Given the description of an element on the screen output the (x, y) to click on. 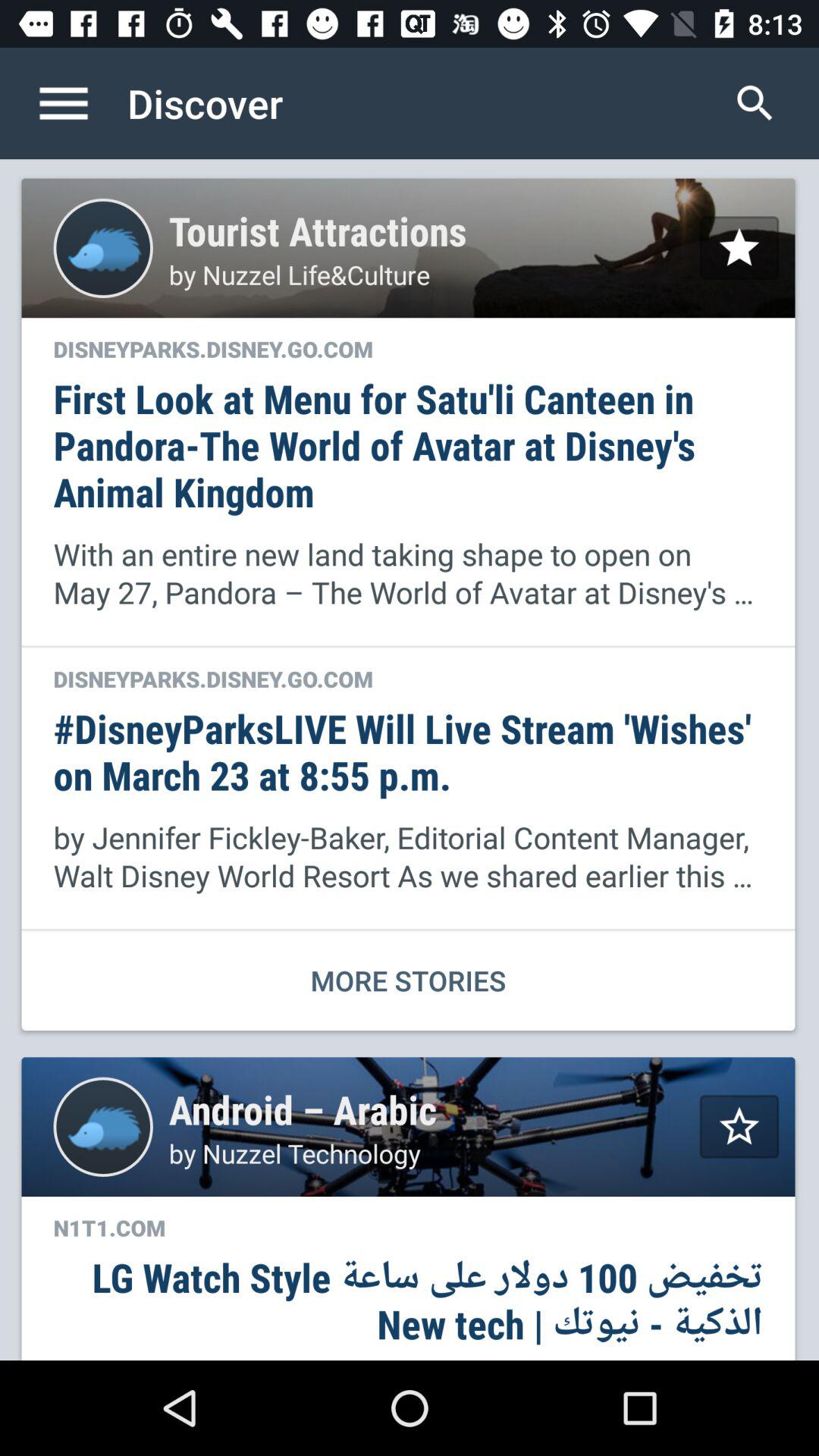
star selection (739, 247)
